Given the description of an element on the screen output the (x, y) to click on. 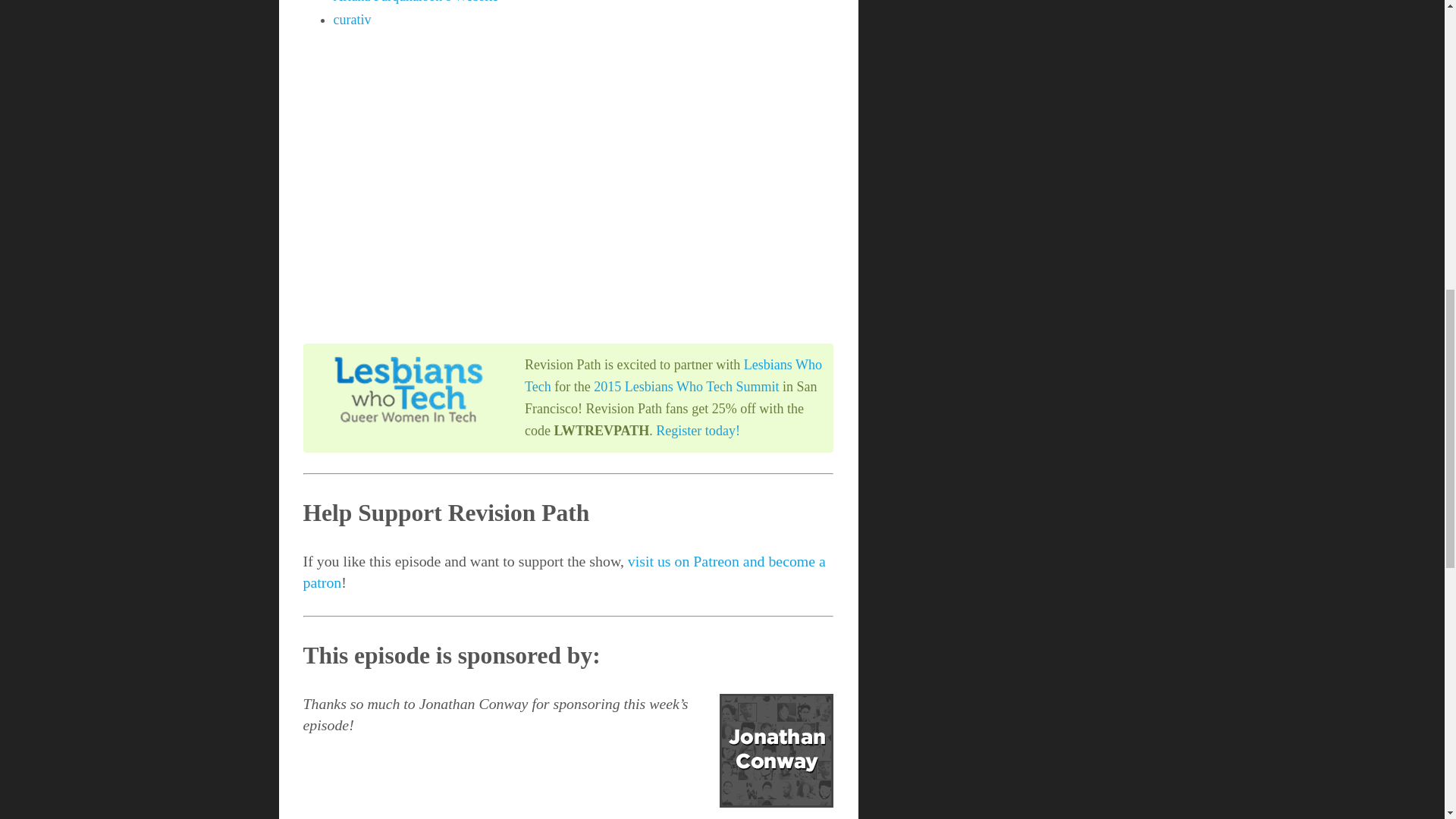
2015 Lesbians Who Tech Summit (686, 386)
curativ (352, 19)
Lesbians Who Tech (673, 375)
visit us on Patreon and become a patron (563, 571)
Register today! (697, 430)
